Given the description of an element on the screen output the (x, y) to click on. 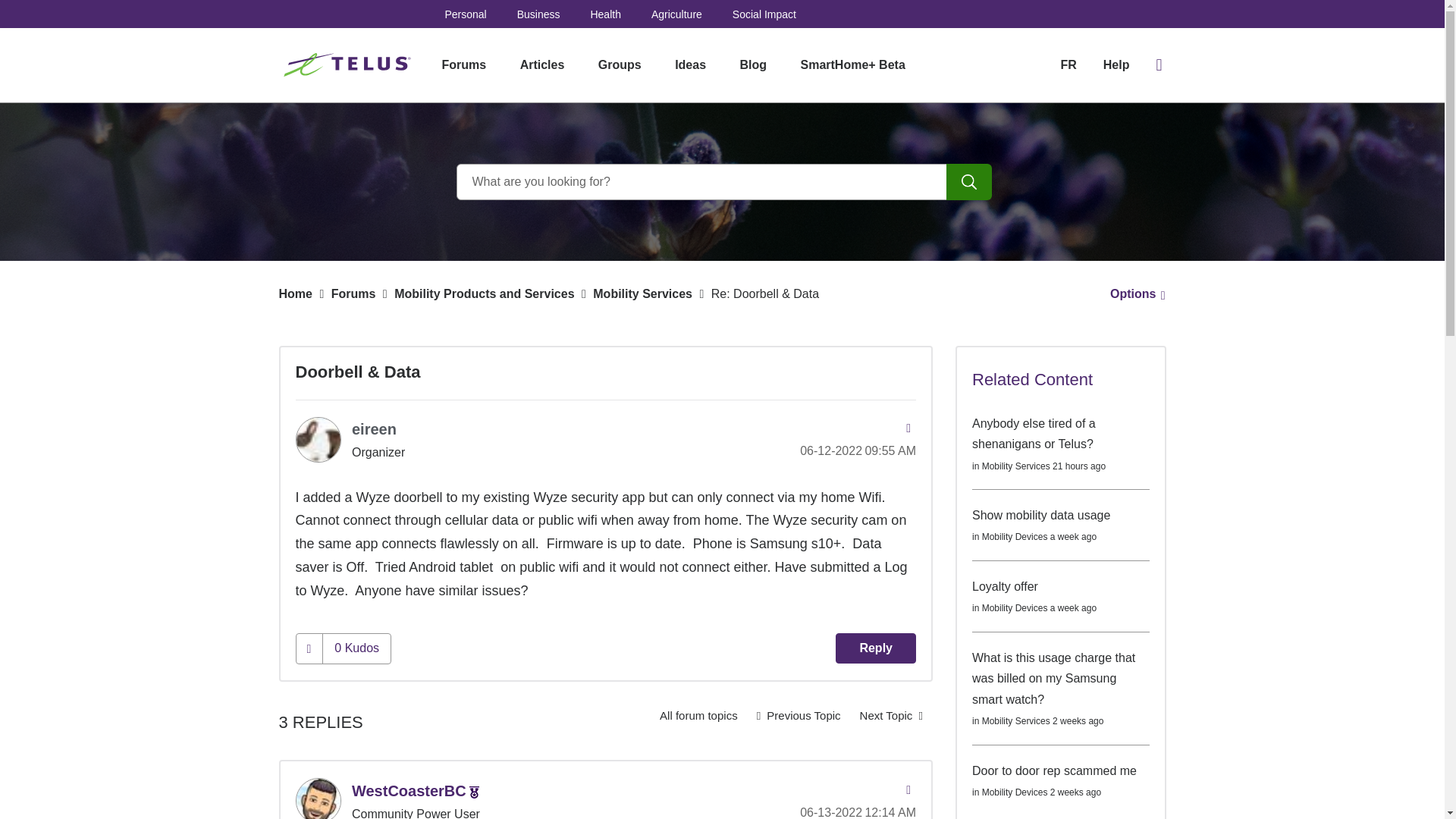
Text message, no subject 1kb (891, 716)
Ideas (689, 64)
Search (722, 181)
Blog (754, 64)
Personal (465, 14)
Search (968, 181)
FR (1067, 64)
Articles (542, 64)
Options (1133, 294)
Click here to give kudos to this post. (309, 648)
Business (538, 14)
Forums (463, 64)
Mobility Products and Services (483, 293)
Telus lost their way? (798, 716)
Home (296, 293)
